Given the description of an element on the screen output the (x, y) to click on. 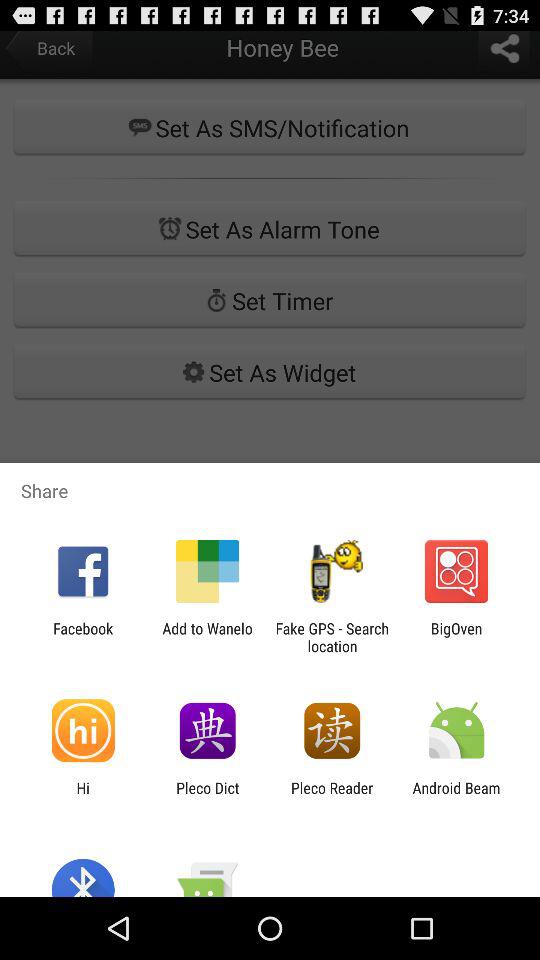
click the icon next to android beam icon (331, 796)
